Given the description of an element on the screen output the (x, y) to click on. 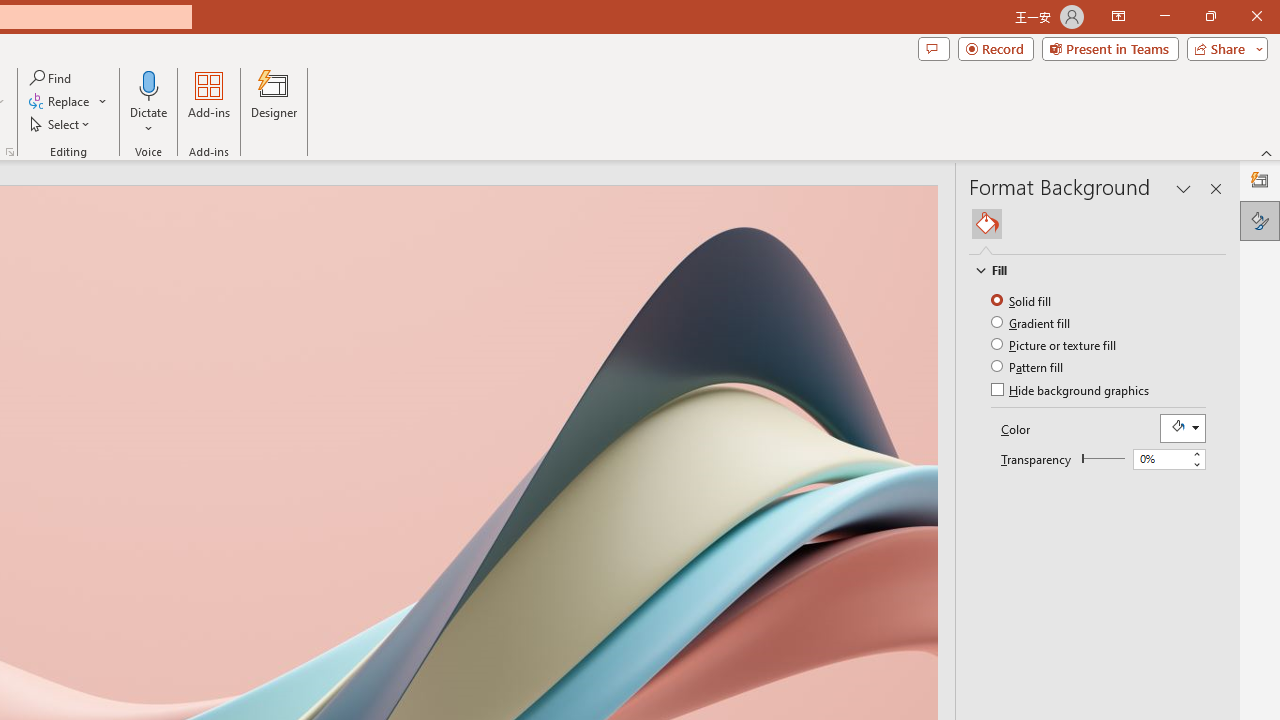
Fill (987, 223)
Picture or texture fill (1055, 344)
Transparency (1103, 458)
Fill (1088, 269)
Class: NetUIGalleryContainer (1098, 223)
